Given the description of an element on the screen output the (x, y) to click on. 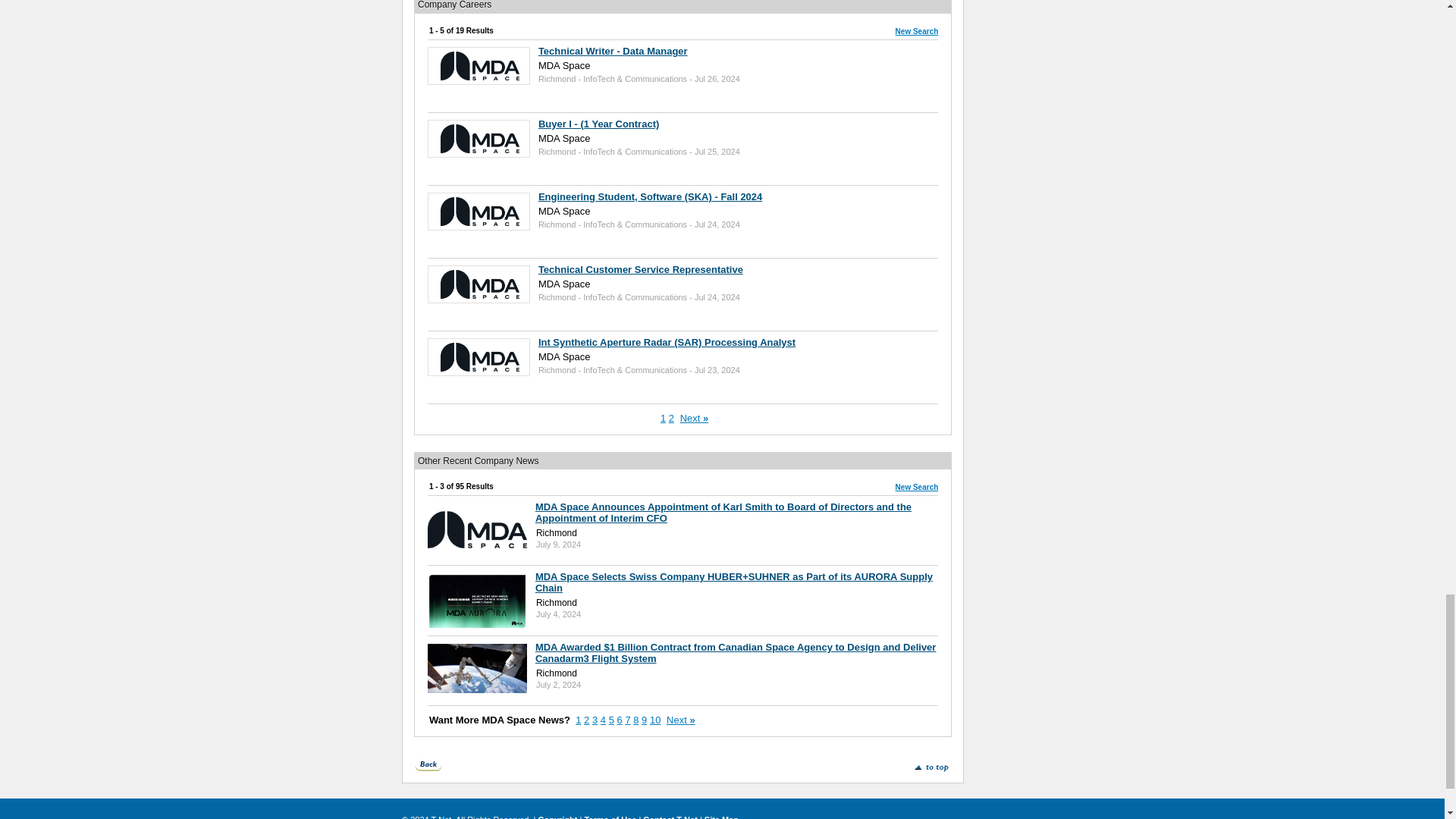
Technical Writer - Data Manager at MDA Space (612, 50)
Technical Customer Service Representative at MDA Space (640, 269)
Technical Customer Service Representative at MDA Space (480, 283)
Technical Writer - Data Manager at MDA Space (480, 64)
